Given the description of an element on the screen output the (x, y) to click on. 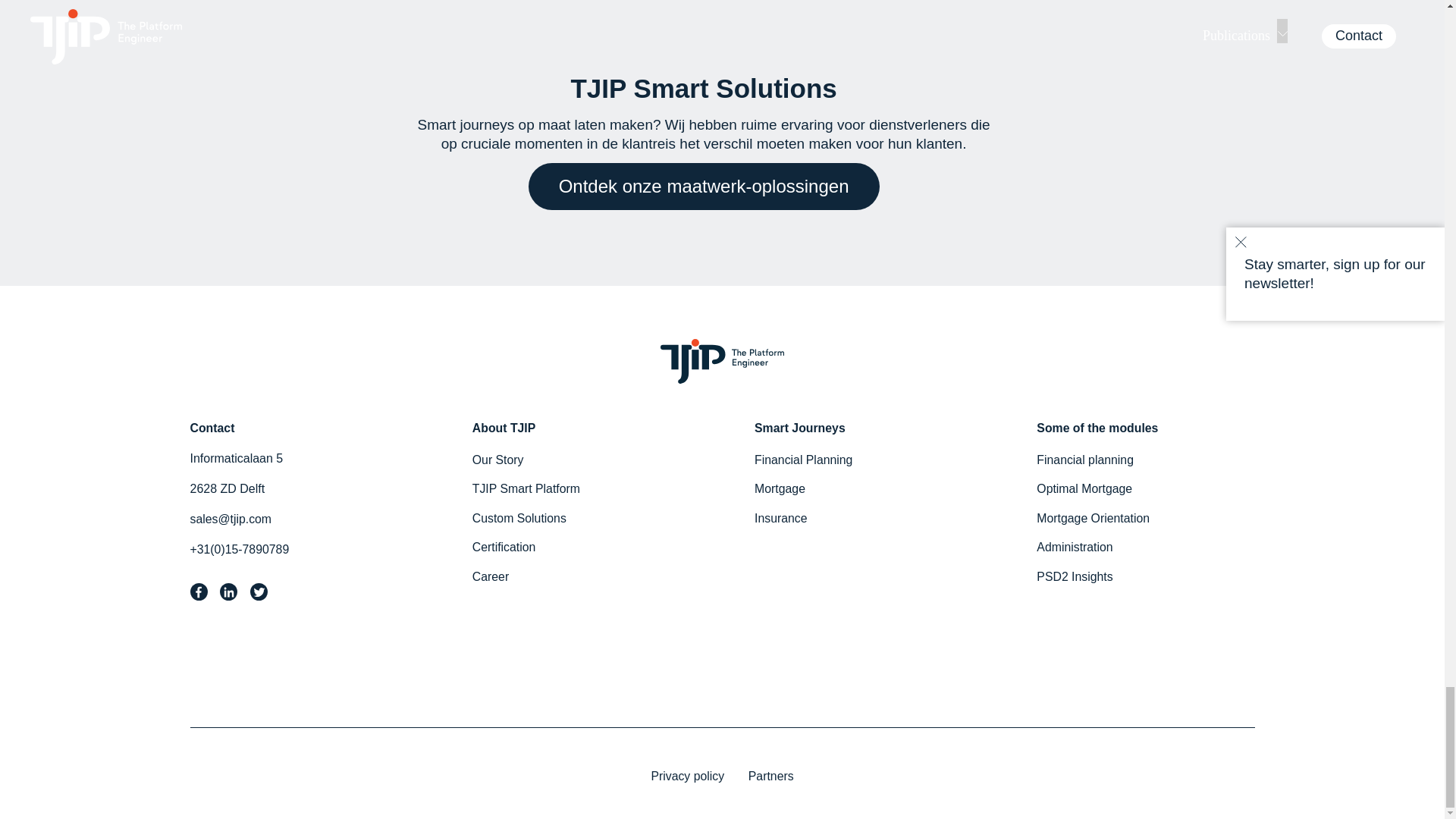
Ontdek onze maatwerk-oplossingen (703, 185)
